Given the description of an element on the screen output the (x, y) to click on. 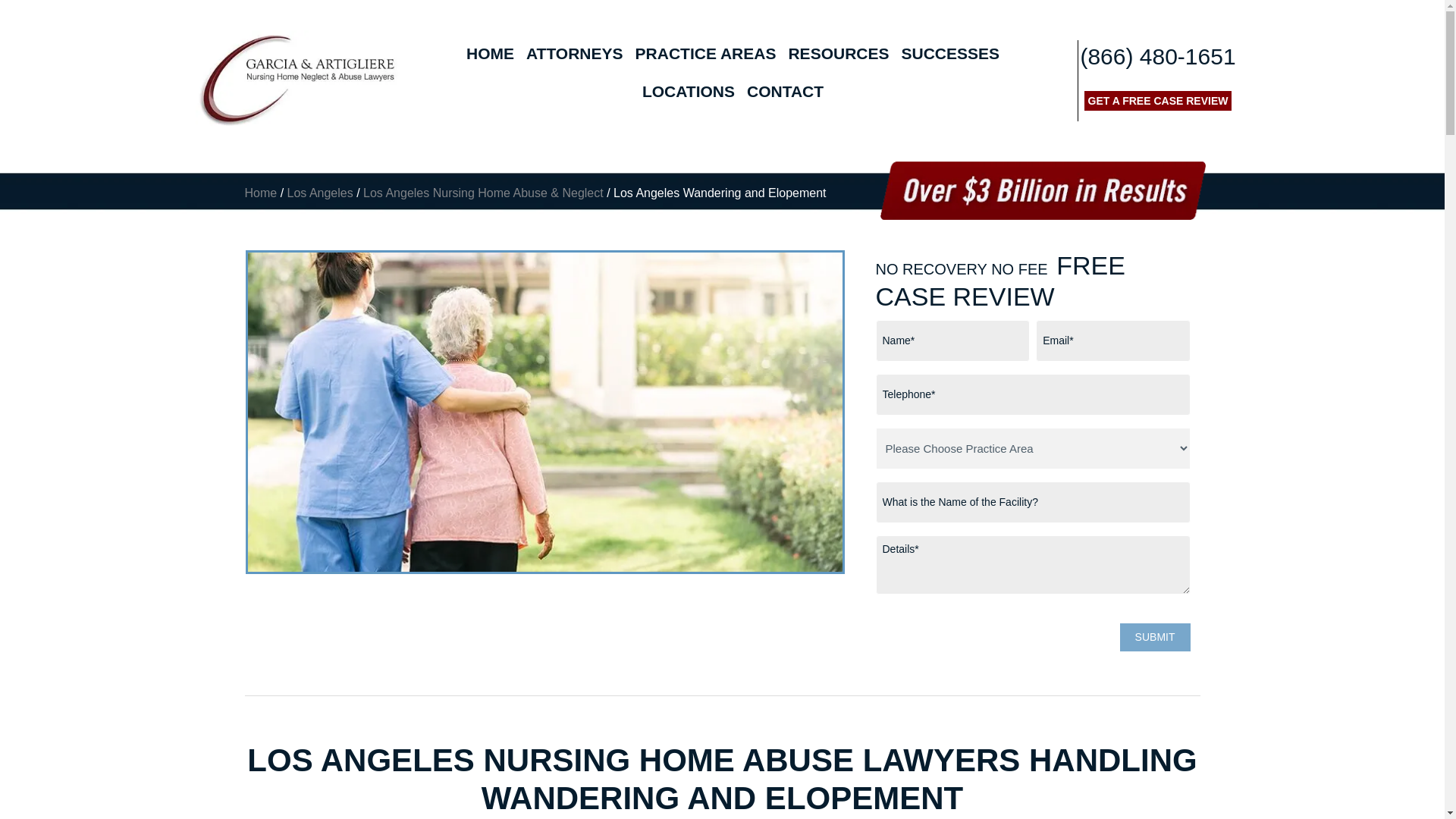
PRACTICE AREAS (705, 53)
HOME (489, 53)
RESOURCES (838, 53)
ATTORNEYS (573, 53)
Submit (1155, 637)
Over 3 Billion in Results (1042, 190)
